Given the description of an element on the screen output the (x, y) to click on. 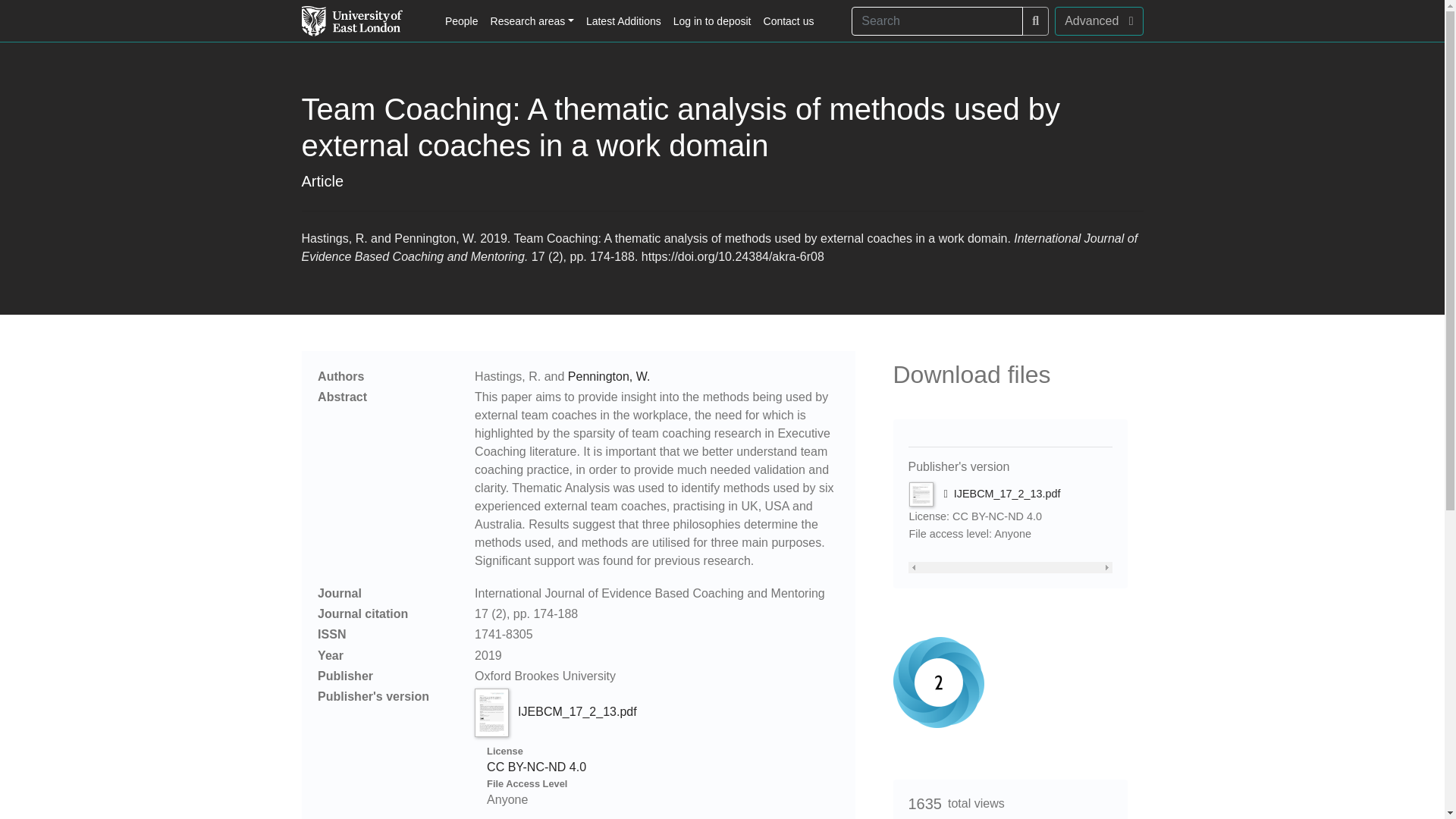
Research areas (531, 21)
Contact us (789, 21)
Log in to deposit (711, 21)
Search (1035, 21)
People (461, 21)
Advanced search (1098, 21)
Advanced   (1098, 21)
CC BY-NC-ND 4.0 (536, 766)
Latest Additions (622, 21)
Pennington, W. (608, 376)
